Given the description of an element on the screen output the (x, y) to click on. 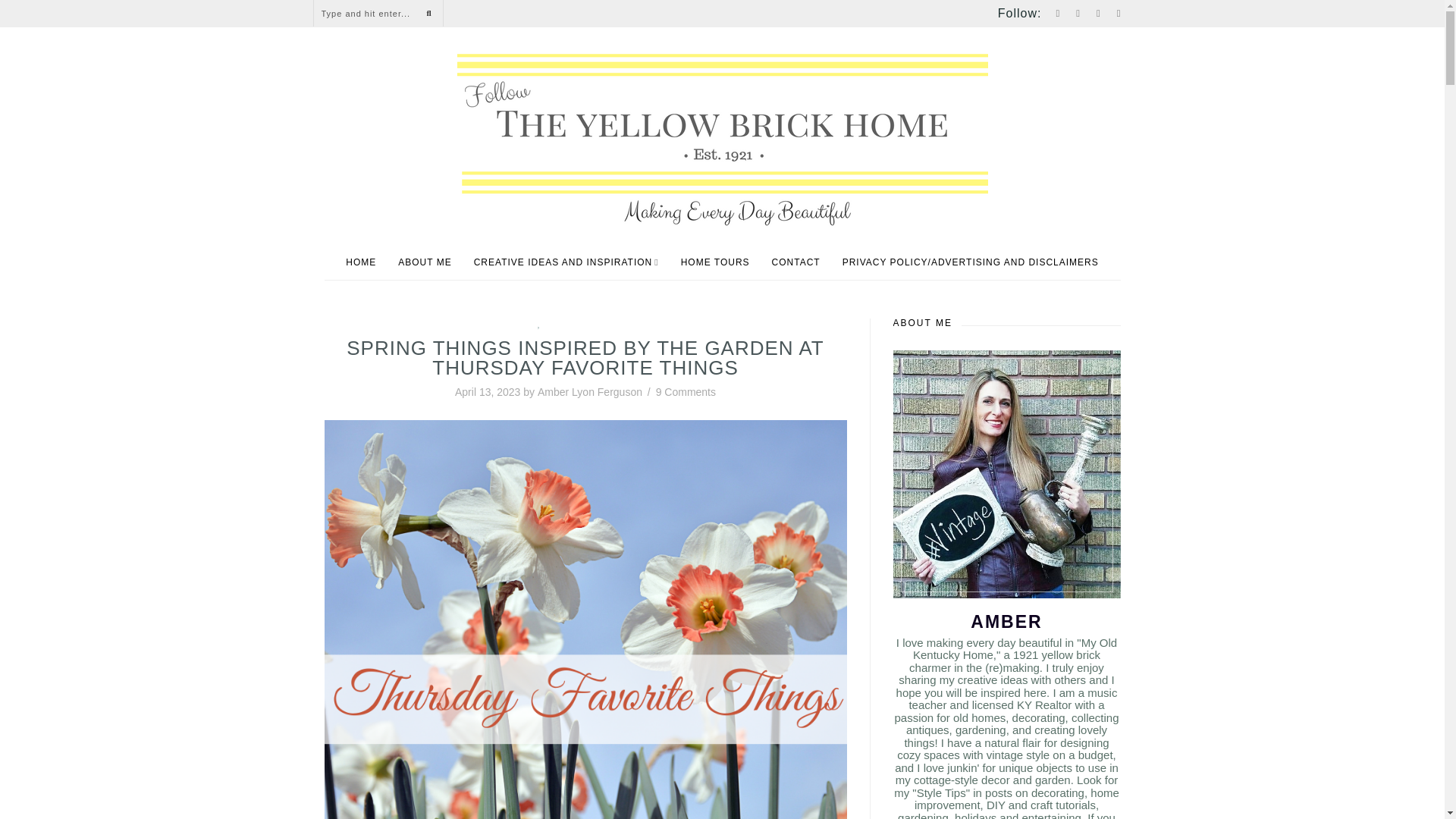
Spring (521, 323)
HOME TOURS (715, 262)
ABOUT ME (424, 262)
Posts by Amber Lyon Ferguson (589, 391)
CONTACT (796, 262)
Thursday Favorite Things (603, 323)
Amber Lyon Ferguson (589, 391)
9 Comments (686, 391)
CREATIVE IDEAS AND INSPIRATION (566, 262)
